Given the description of an element on the screen output the (x, y) to click on. 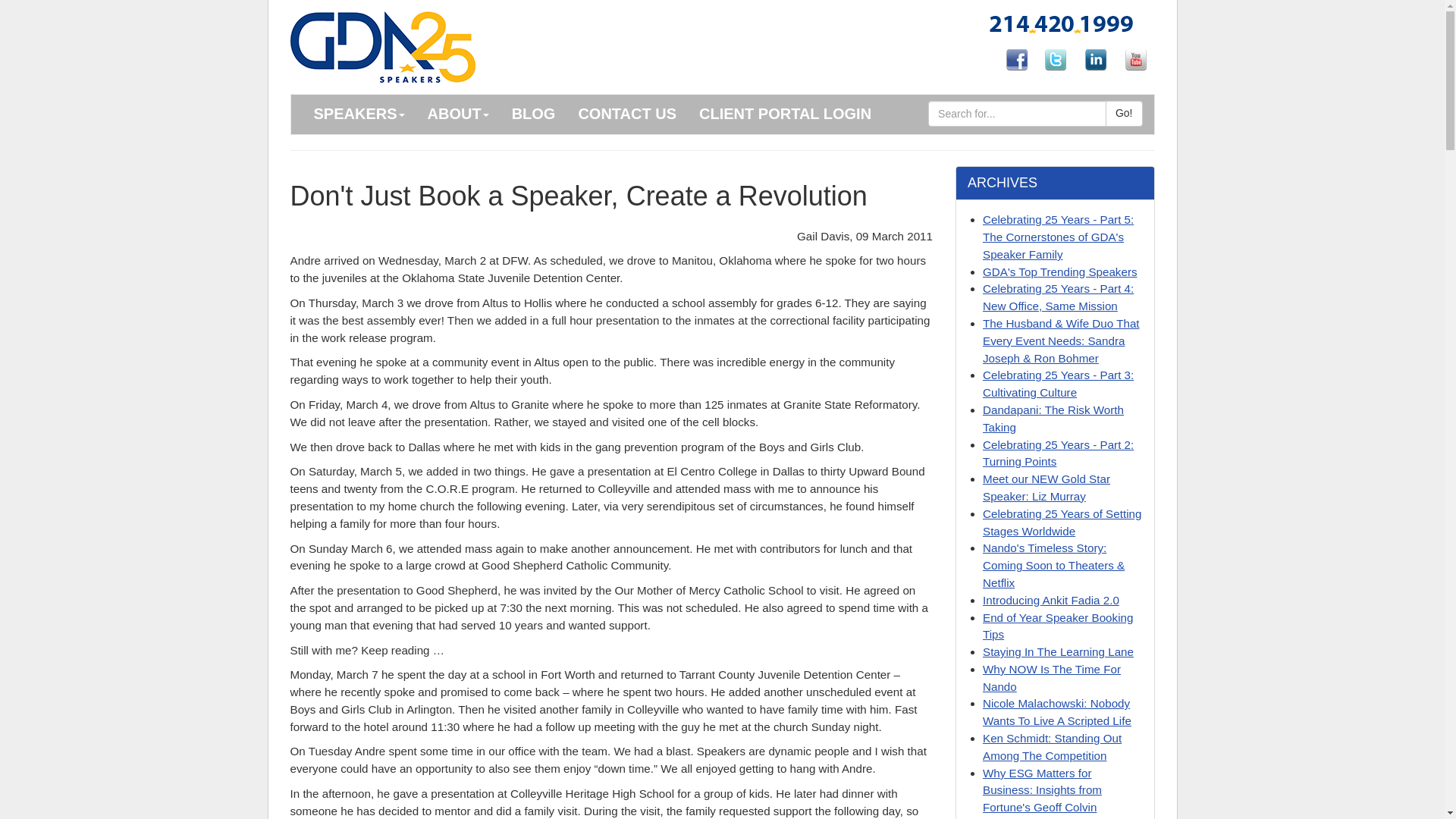
ABOUT (458, 114)
Meet our NEW Gold Star Speaker: Liz Murray (1045, 487)
GDA's Top Trending Speakers (1059, 271)
Go! (1123, 113)
End of Year Speaker Booking Tips (1057, 625)
Introducing Ankit Fadia 2.0 (1050, 599)
Celebrating 25 Years - Part 2: Turning Points (1058, 453)
SPEAKERS (357, 114)
contact (626, 114)
Dandapani: The Risk Worth Taking (1053, 418)
Celebrating 25 Years - Part 3: Cultivating Culture (1058, 383)
Celebrating 25 Years of Setting Stages Worldwide (1061, 521)
about (533, 114)
Go! (1123, 113)
